Given the description of an element on the screen output the (x, y) to click on. 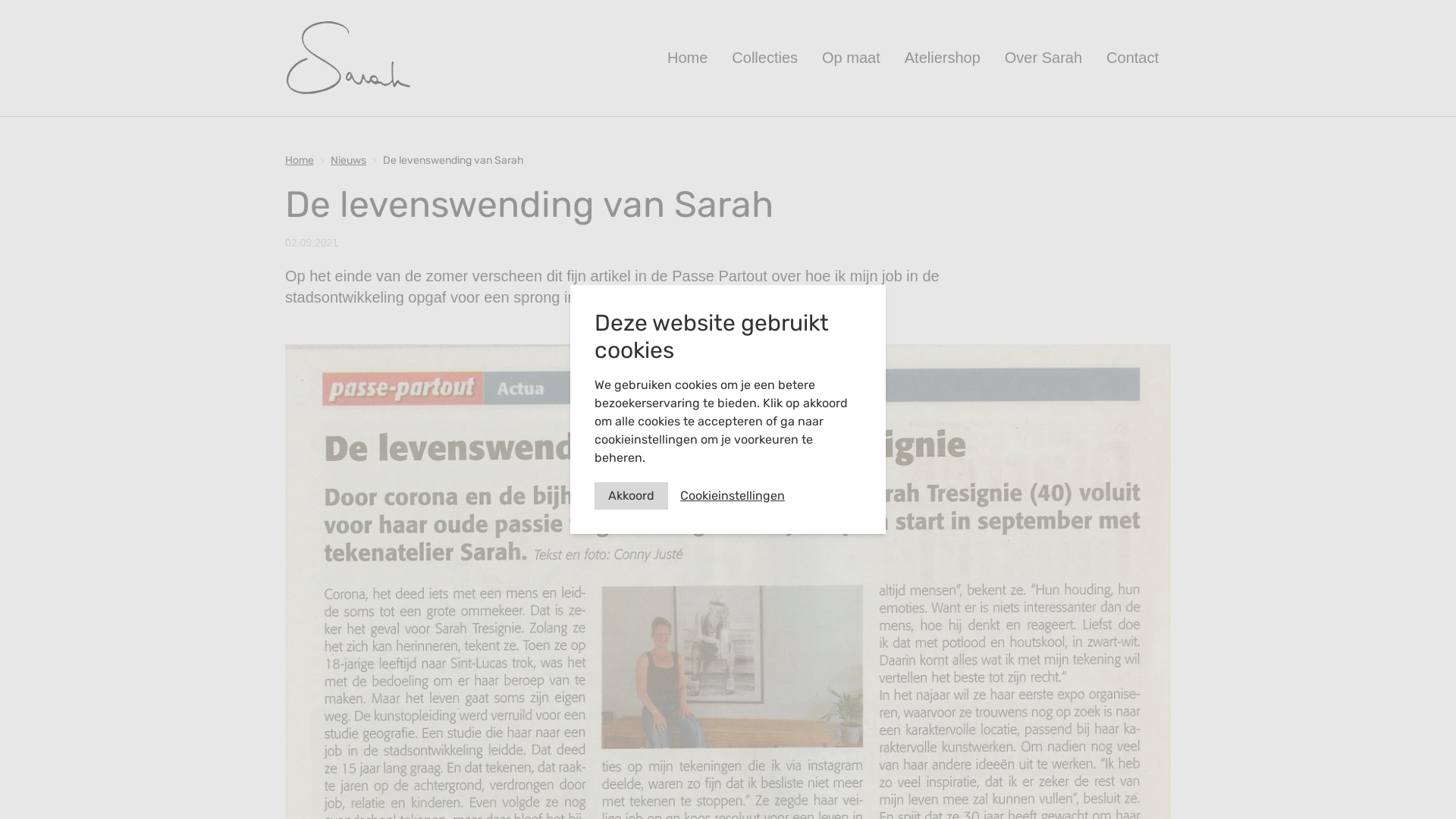
Collecties Element type: text (764, 57)
Over Sarah Element type: text (1043, 57)
Cookieinstellingen Element type: text (732, 495)
Nieuws Element type: text (348, 160)
Akkoord Element type: text (631, 495)
Home Element type: text (687, 57)
Contact Element type: text (1132, 57)
Op maat Element type: text (850, 57)
De levenswending van Sarah Element type: text (453, 160)
Ateliershop Element type: text (942, 57)
Home Element type: text (299, 160)
